Given the description of an element on the screen output the (x, y) to click on. 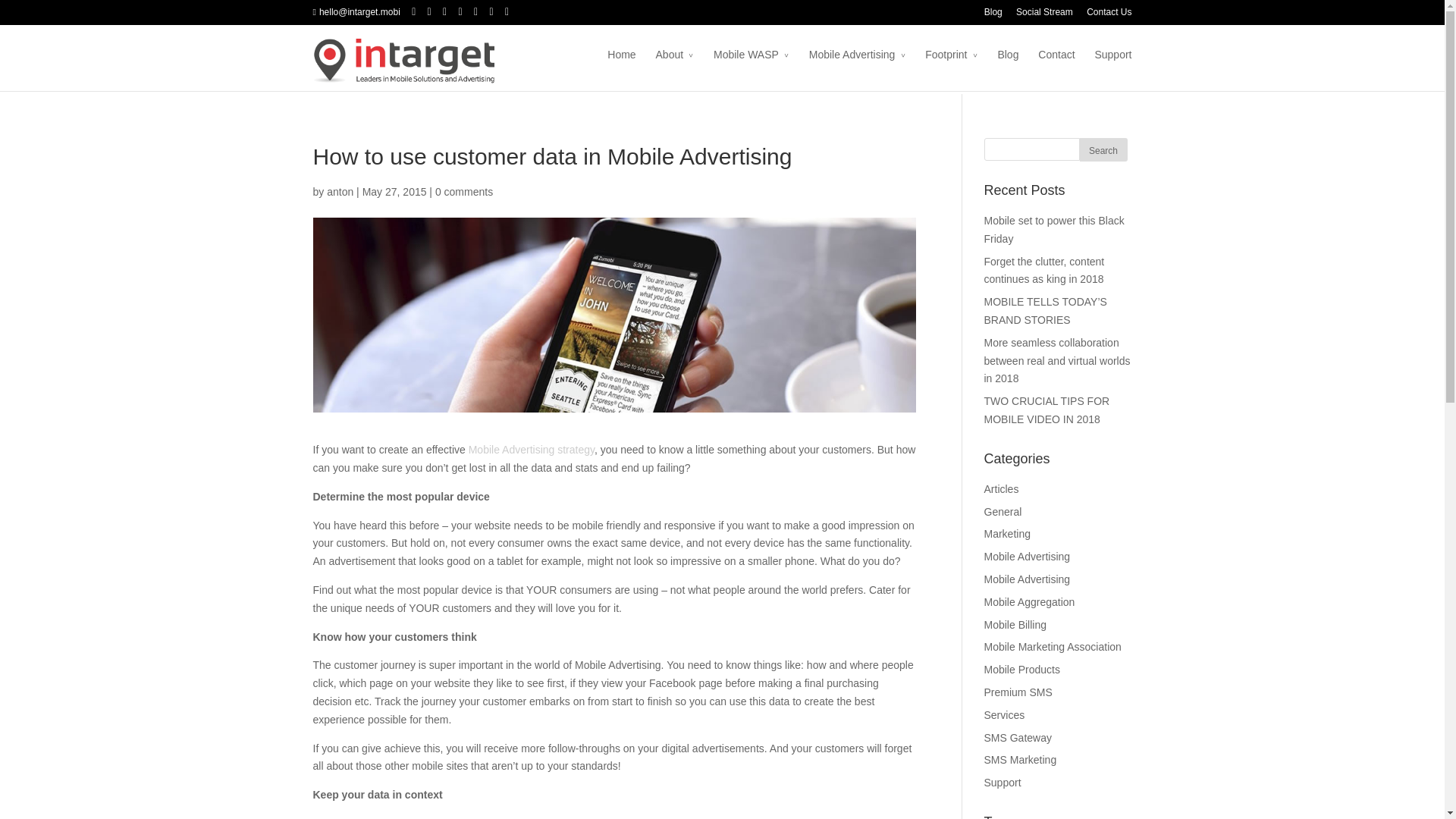
Mobile Advertising (857, 65)
About (675, 65)
Social Stream (1044, 16)
Blog (993, 16)
Mobile WASP (751, 65)
Posts by anton (339, 191)
Search (1103, 149)
Contact Us (1108, 16)
